Given the description of an element on the screen output the (x, y) to click on. 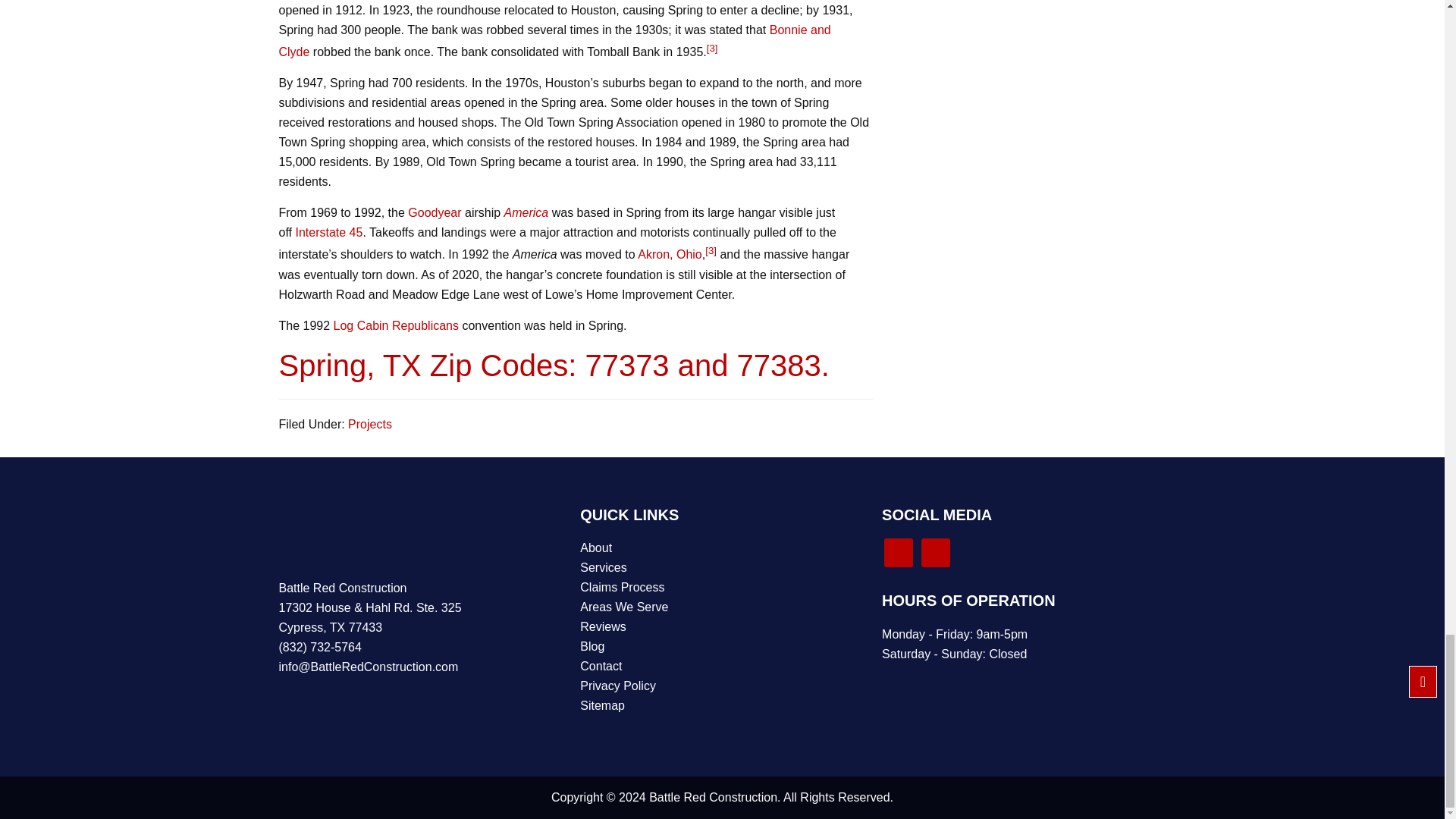
Facebook (935, 552)
Google Business Profile (897, 552)
Battle Red Construction (311, 534)
